Given the description of an element on the screen output the (x, y) to click on. 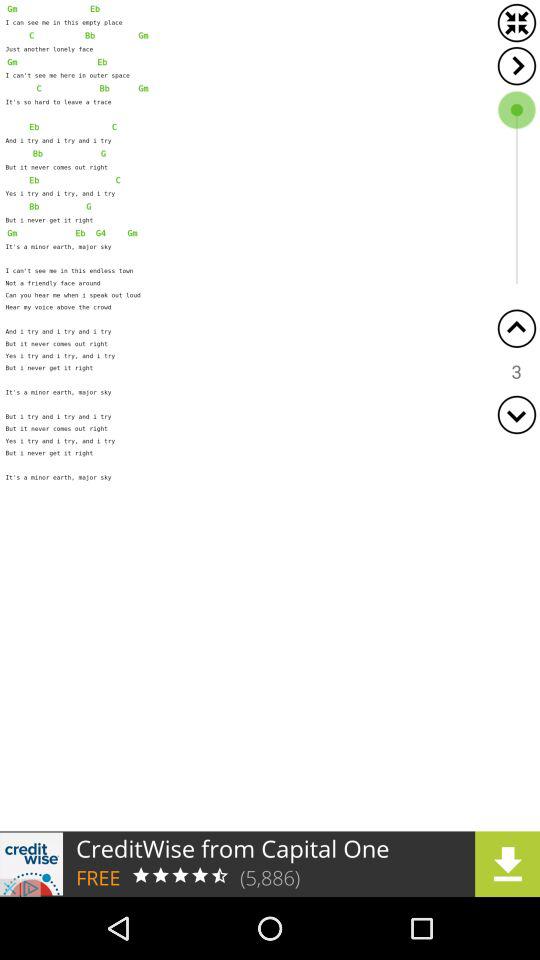
back ward (516, 328)
